Given the description of an element on the screen output the (x, y) to click on. 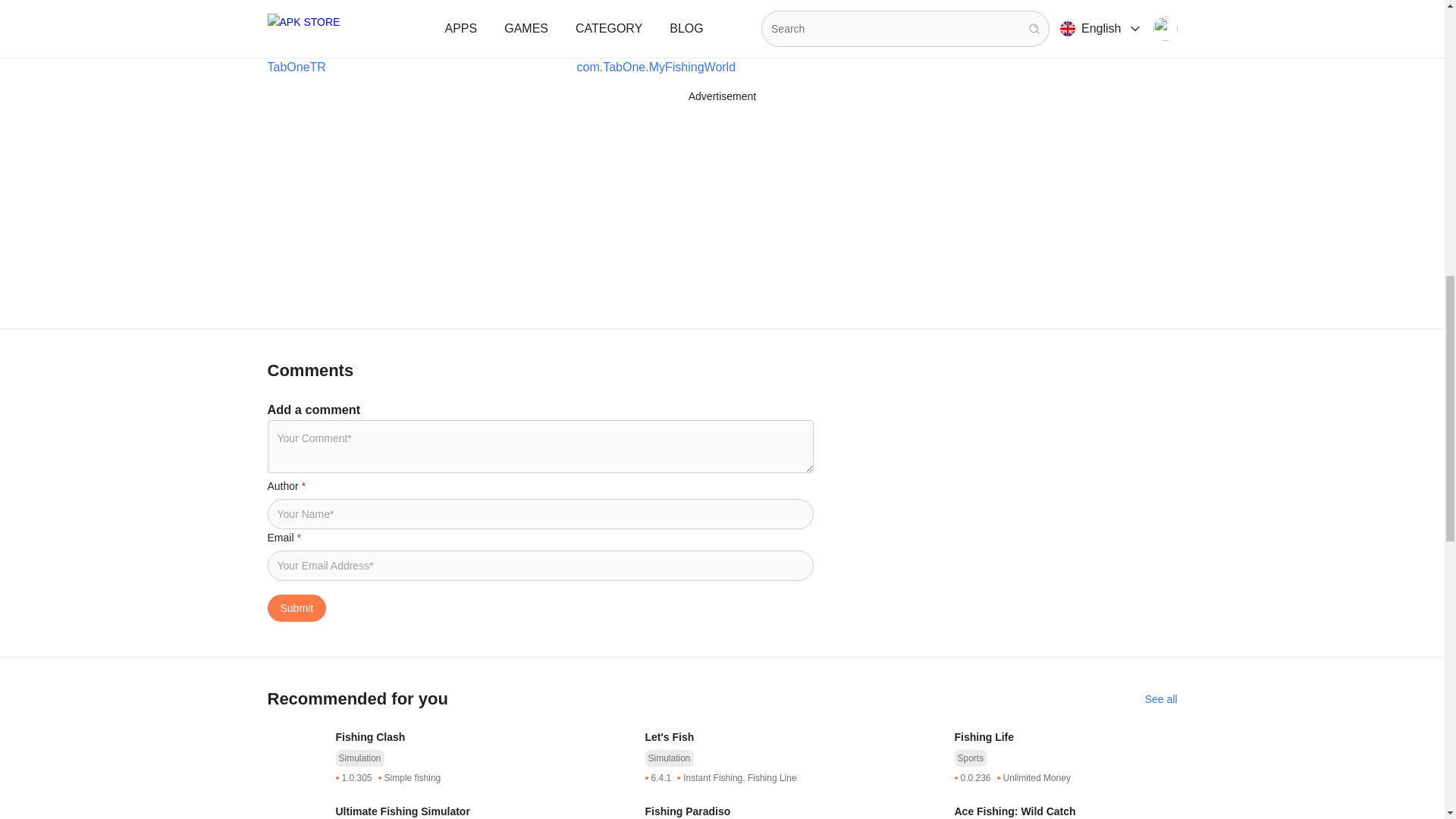
Single player (442, 72)
TabOneTR (295, 282)
Realistic (360, 72)
Offline (291, 72)
Submit (296, 814)
